Given the description of an element on the screen output the (x, y) to click on. 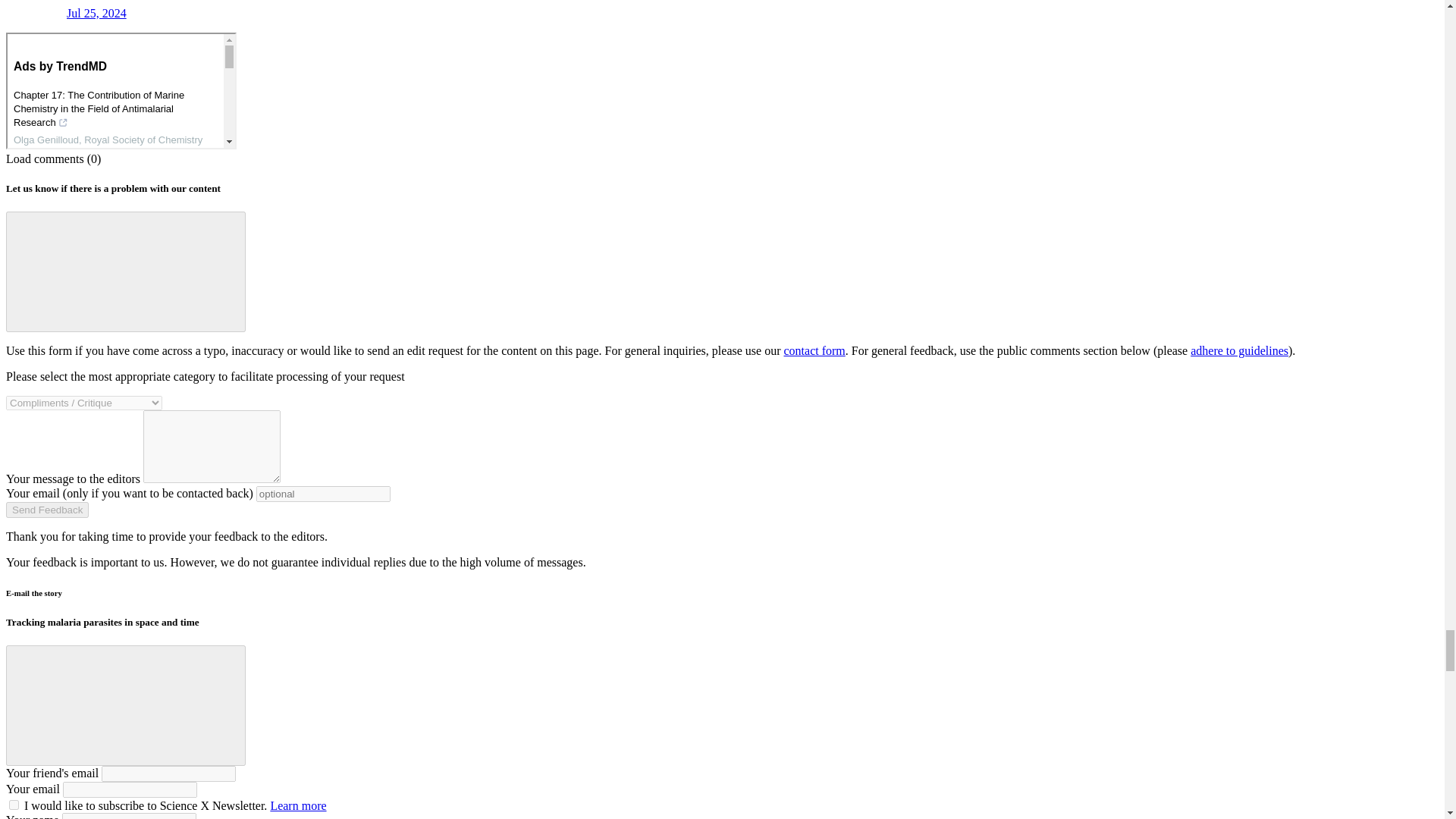
1 (13, 804)
